Given the description of an element on the screen output the (x, y) to click on. 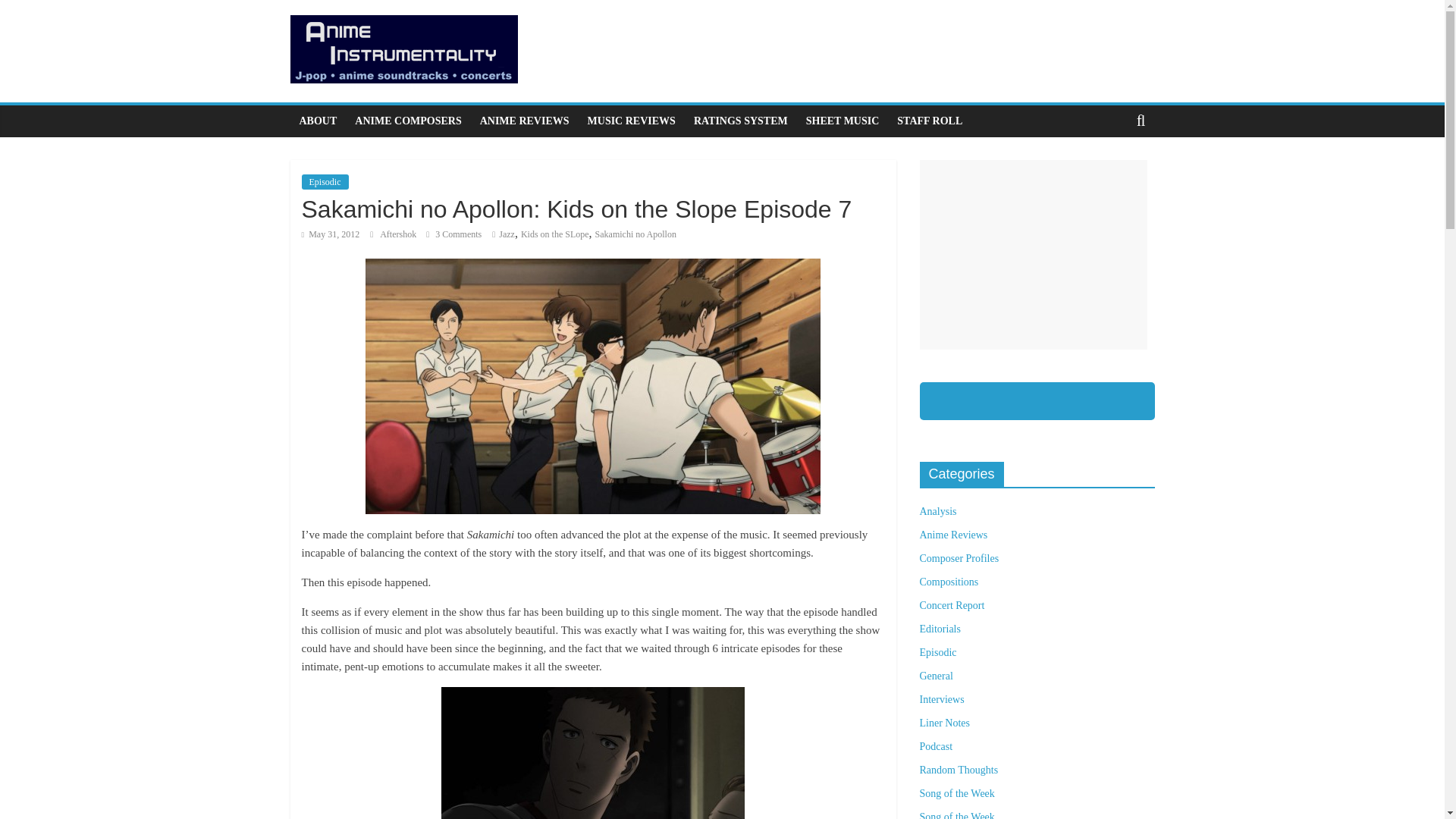
Aftershok (399, 234)
SHEET MUSIC (842, 121)
ANIME REVIEWS (524, 121)
May 31, 2012 (330, 234)
Jazz (507, 234)
ABOUT (317, 121)
ANIME COMPOSERS (408, 121)
Kids on the SLope (555, 234)
STAFF ROLL (929, 121)
11:32 pm (330, 234)
MUSIC REVIEWS (631, 121)
Sakamichi no Apollon (636, 234)
Aftershok (399, 234)
RATINGS SYSTEM (740, 121)
Episodic (325, 181)
